Given the description of an element on the screen output the (x, y) to click on. 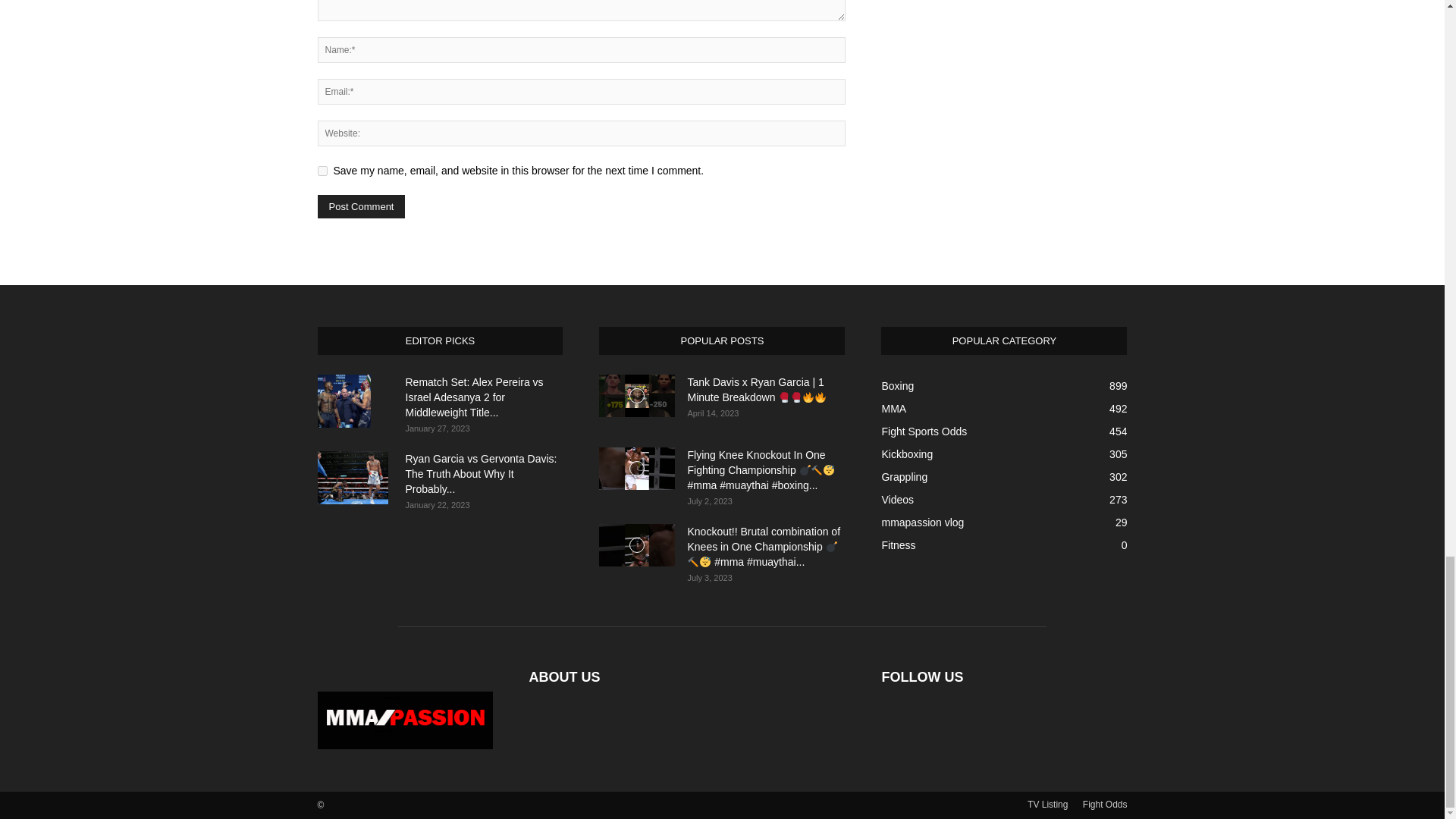
yes (321, 171)
Post Comment (360, 206)
